Given the description of an element on the screen output the (x, y) to click on. 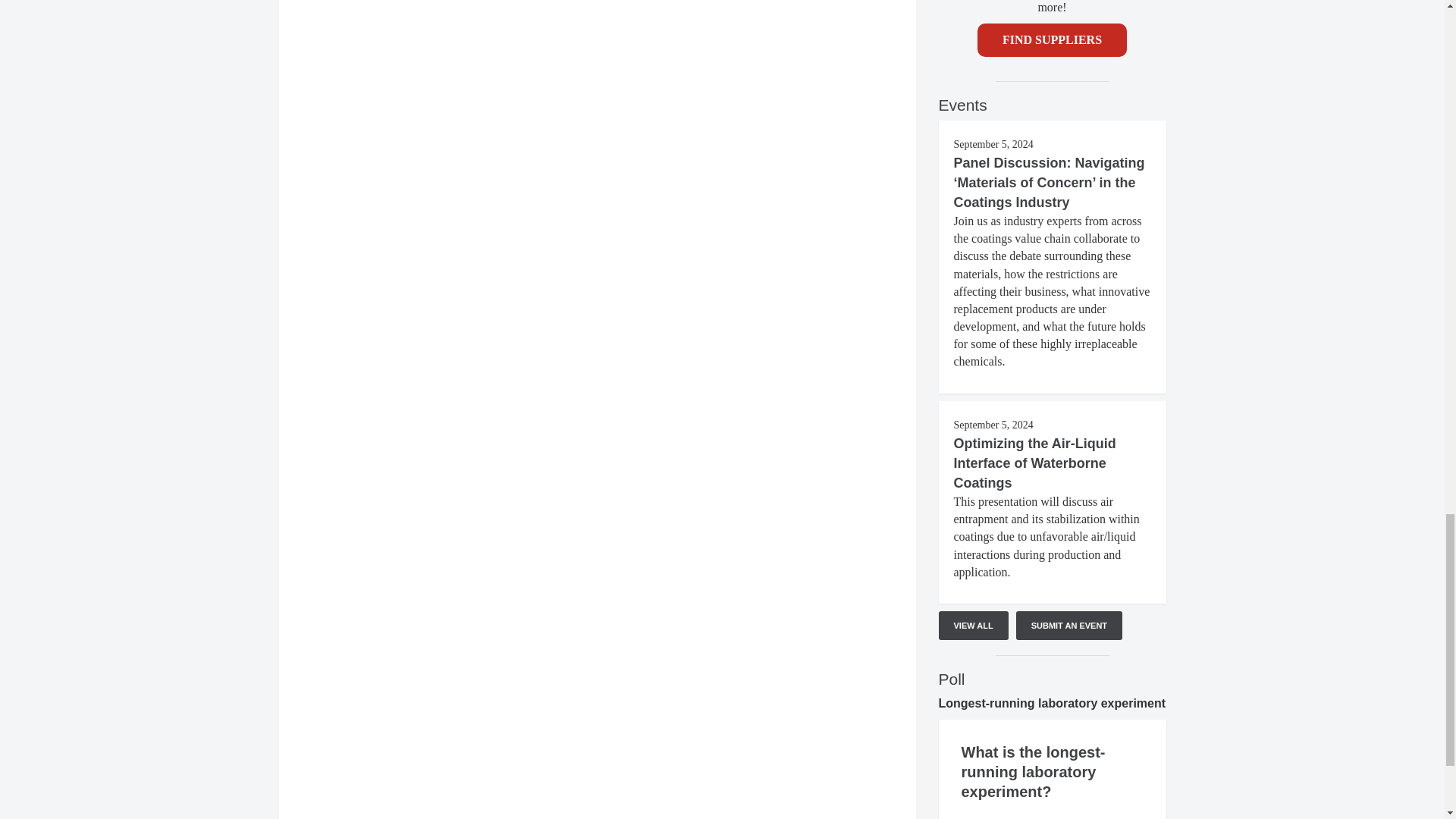
Optimizing the Air-Liquid Interface of Waterborne Coatings (1034, 462)
